Given the description of an element on the screen output the (x, y) to click on. 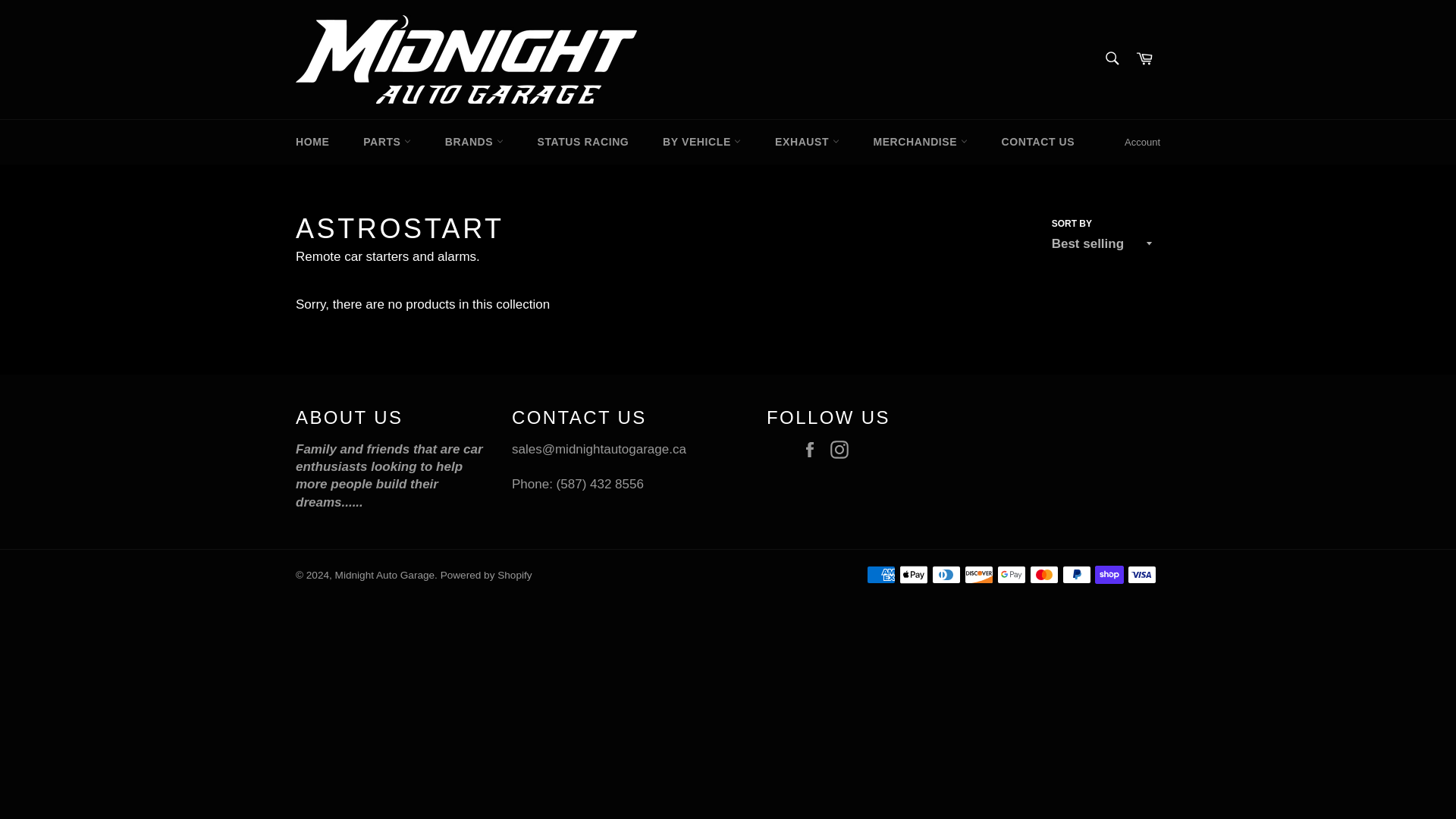
Midnight Auto Garage on Facebook (813, 449)
About Us (389, 475)
Midnight Auto Garage on Instagram (842, 449)
